Given the description of an element on the screen output the (x, y) to click on. 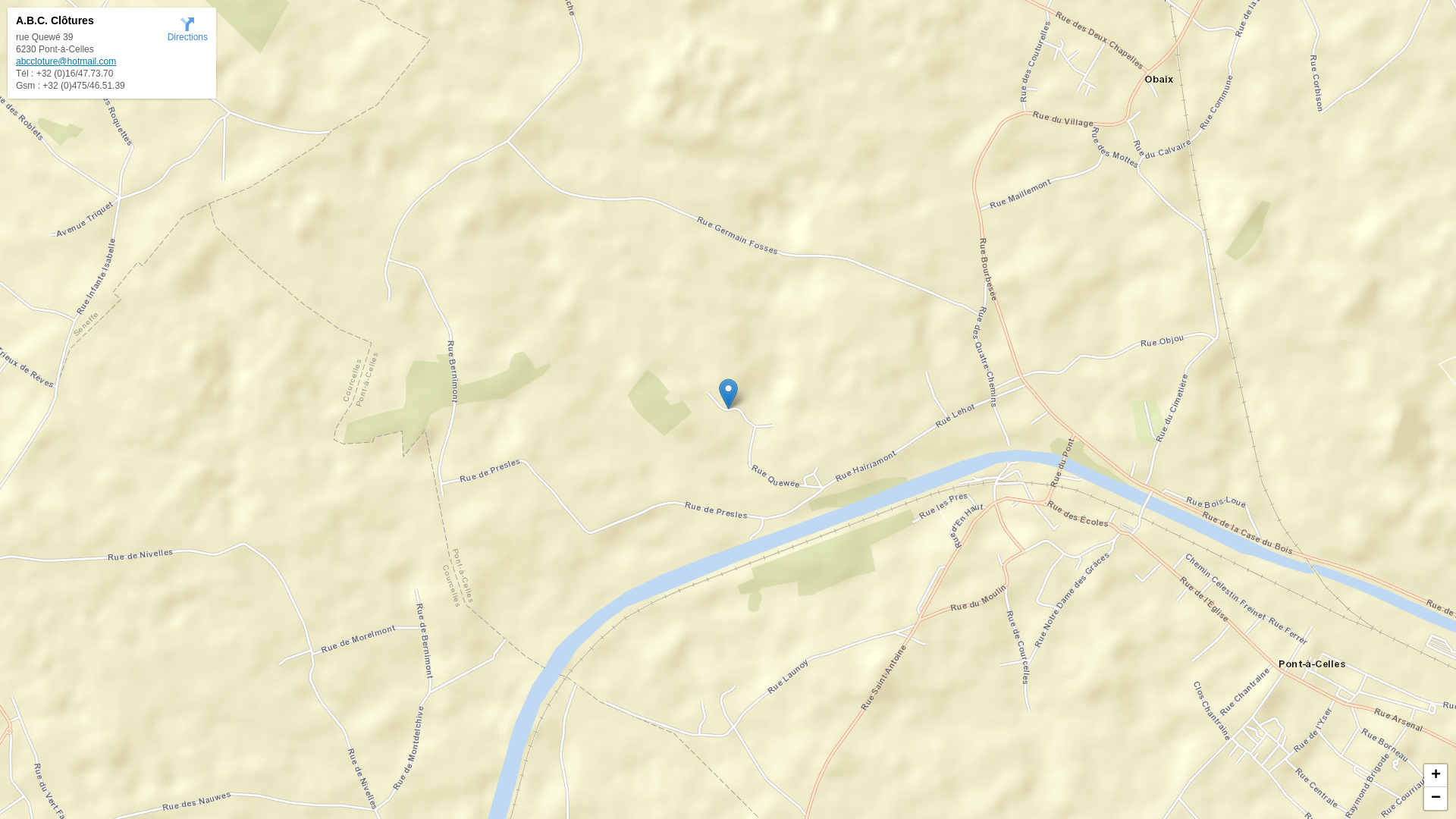
Directions Element type: text (187, 28)
abccloture@hotmail.com Element type: text (65, 61)
+ Element type: text (1435, 775)
